Given the description of an element on the screen output the (x, y) to click on. 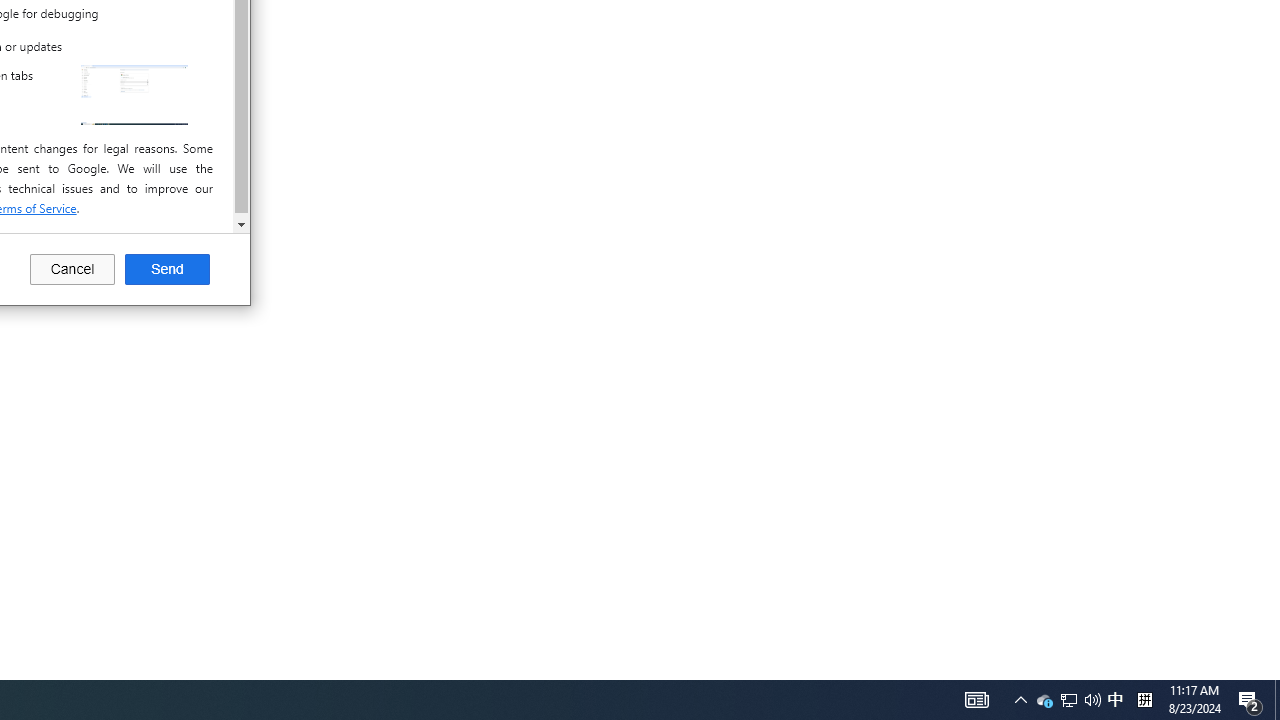
Action Center, 2 new notifications (1250, 699)
User Promoted Notification Area (1068, 699)
Cancel (72, 269)
Tray Input Indicator - Chinese (Simplified, China) (1115, 699)
Send (1144, 699)
Screenshot of programs that are currently on the screen (167, 269)
AutomationID: 4105 (134, 94)
Show desktop (976, 699)
Notification Chevron (1069, 699)
Q2790: 100% (1044, 699)
